Given the description of an element on the screen output the (x, y) to click on. 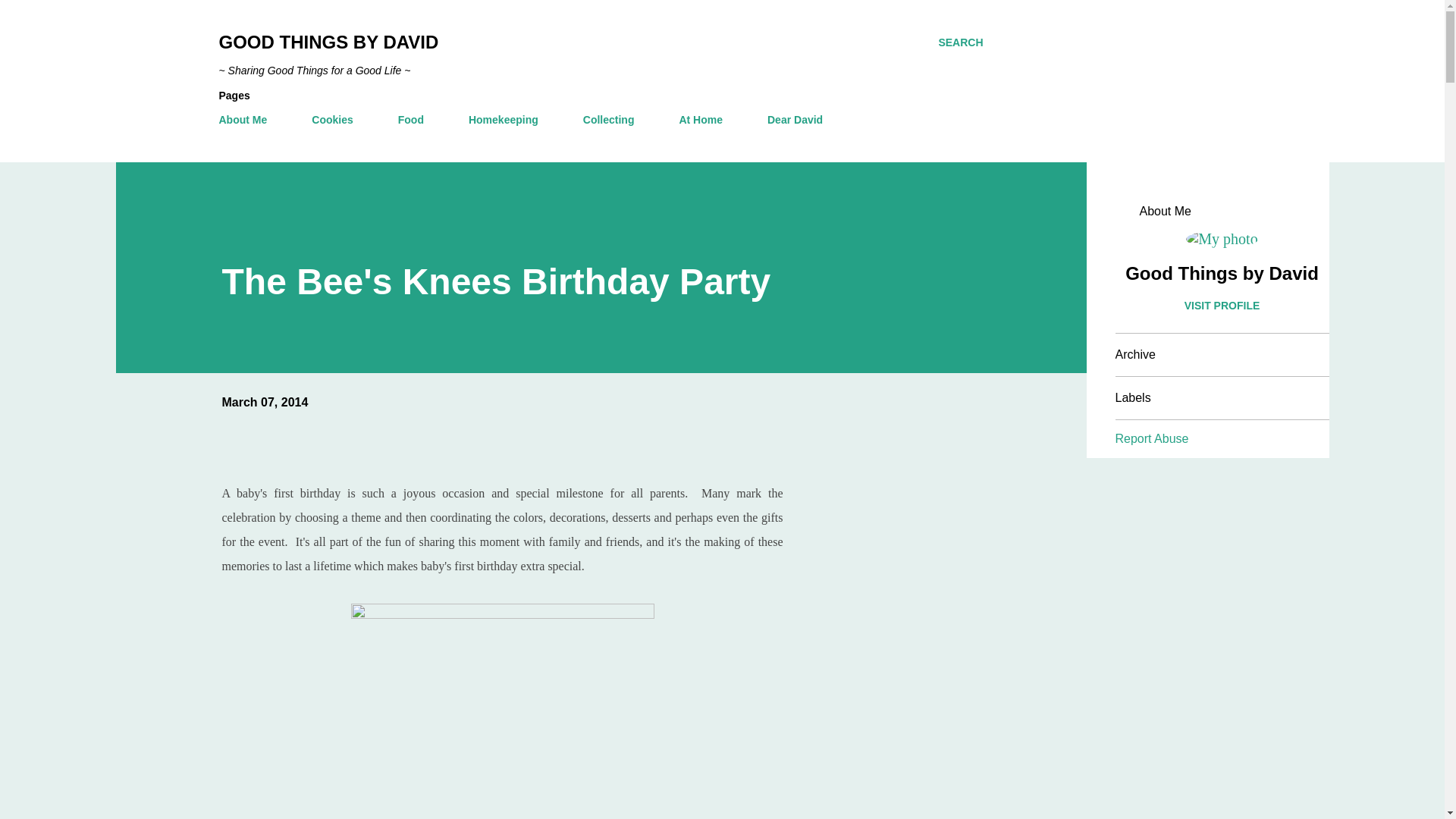
permanent link (264, 401)
March 07, 2014 (264, 401)
At Home (700, 119)
Dear David (794, 119)
GOOD THINGS BY DAVID (328, 41)
Food (410, 119)
Collecting (608, 119)
SEARCH (959, 42)
About Me (247, 119)
Homekeeping (503, 119)
Cookies (331, 119)
